Given the description of an element on the screen output the (x, y) to click on. 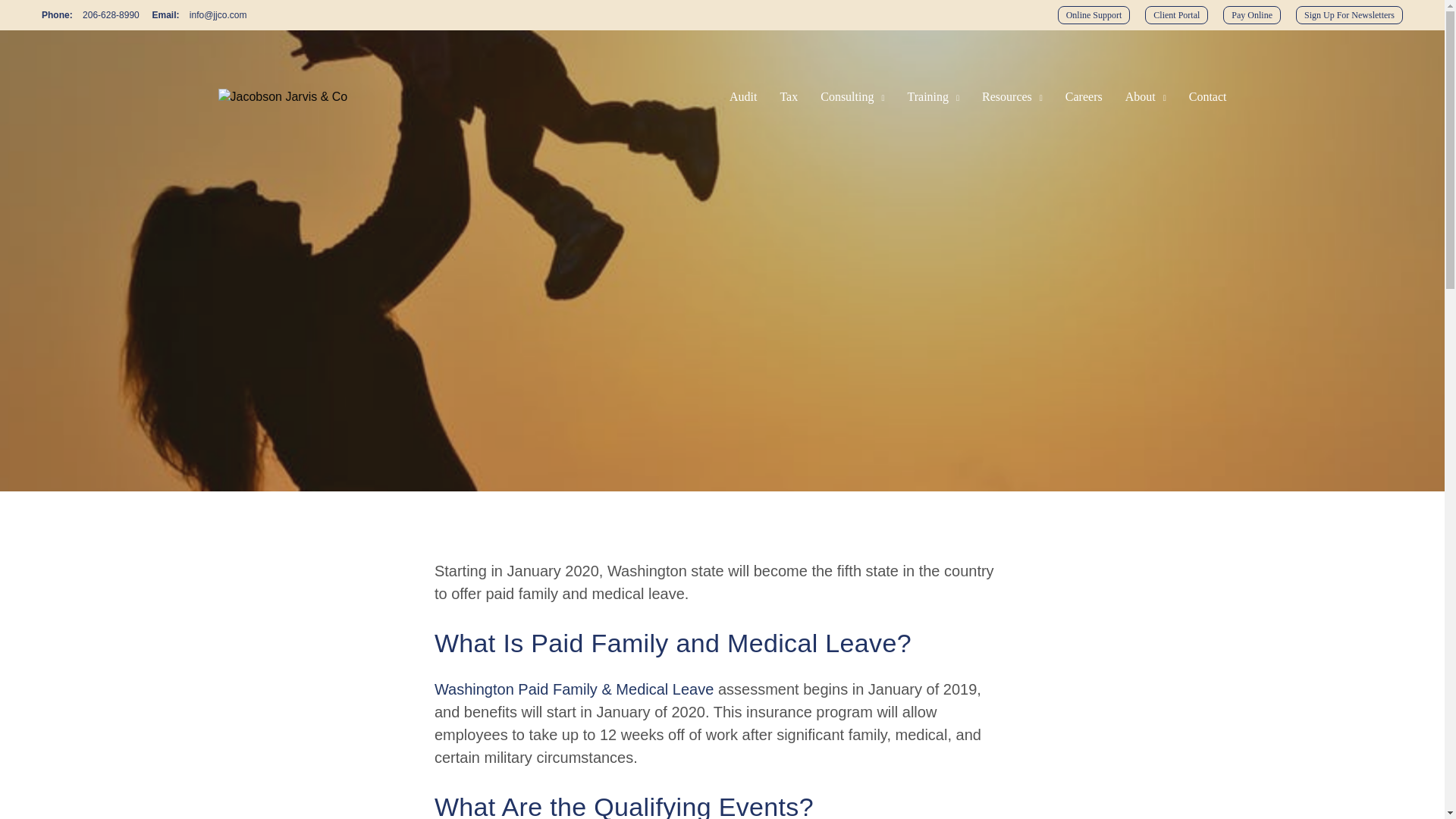
206-628-8990 (111, 14)
Pay Online (1252, 14)
Client Portal (1176, 14)
Consulting (852, 96)
About (1145, 96)
Resources (1011, 96)
Online Support (1094, 14)
Contact (1208, 96)
Training (933, 96)
Sign Up For Newsletters (1349, 14)
